Given the description of an element on the screen output the (x, y) to click on. 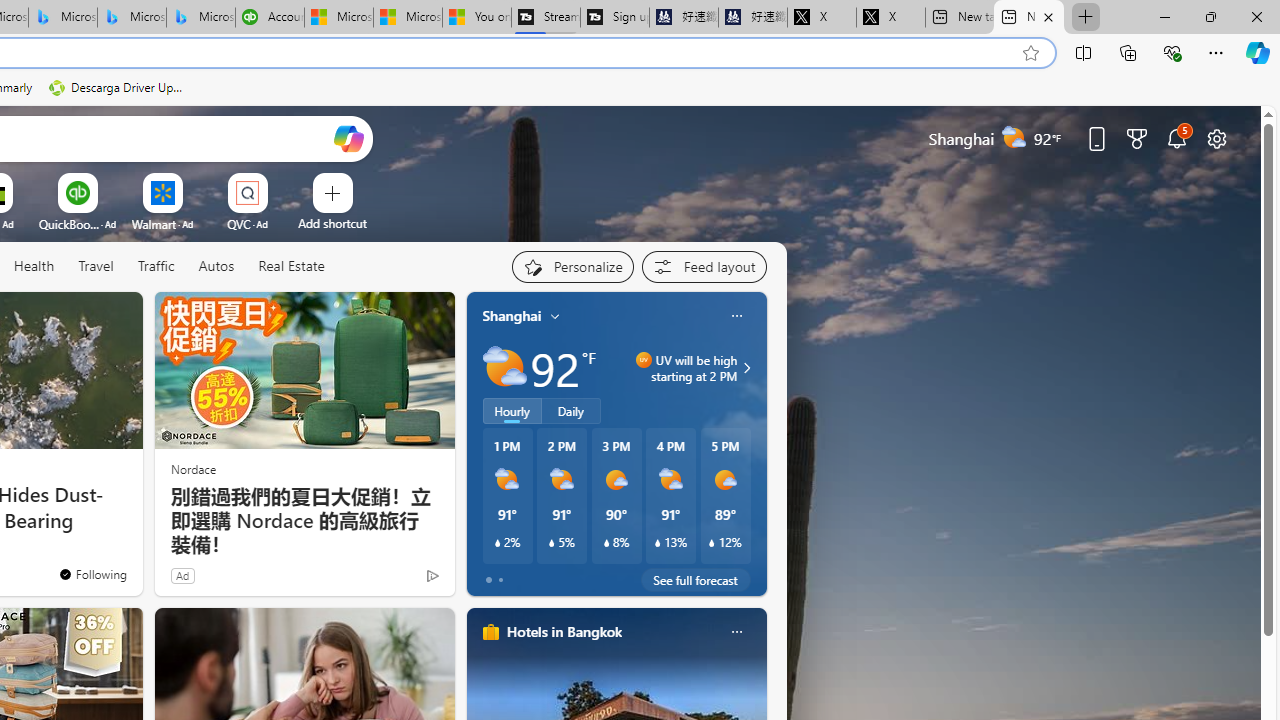
Accounting Software for Accountants, CPAs and Bookkeepers (269, 17)
Descarga Driver Updater (118, 88)
